Given the description of an element on the screen output the (x, y) to click on. 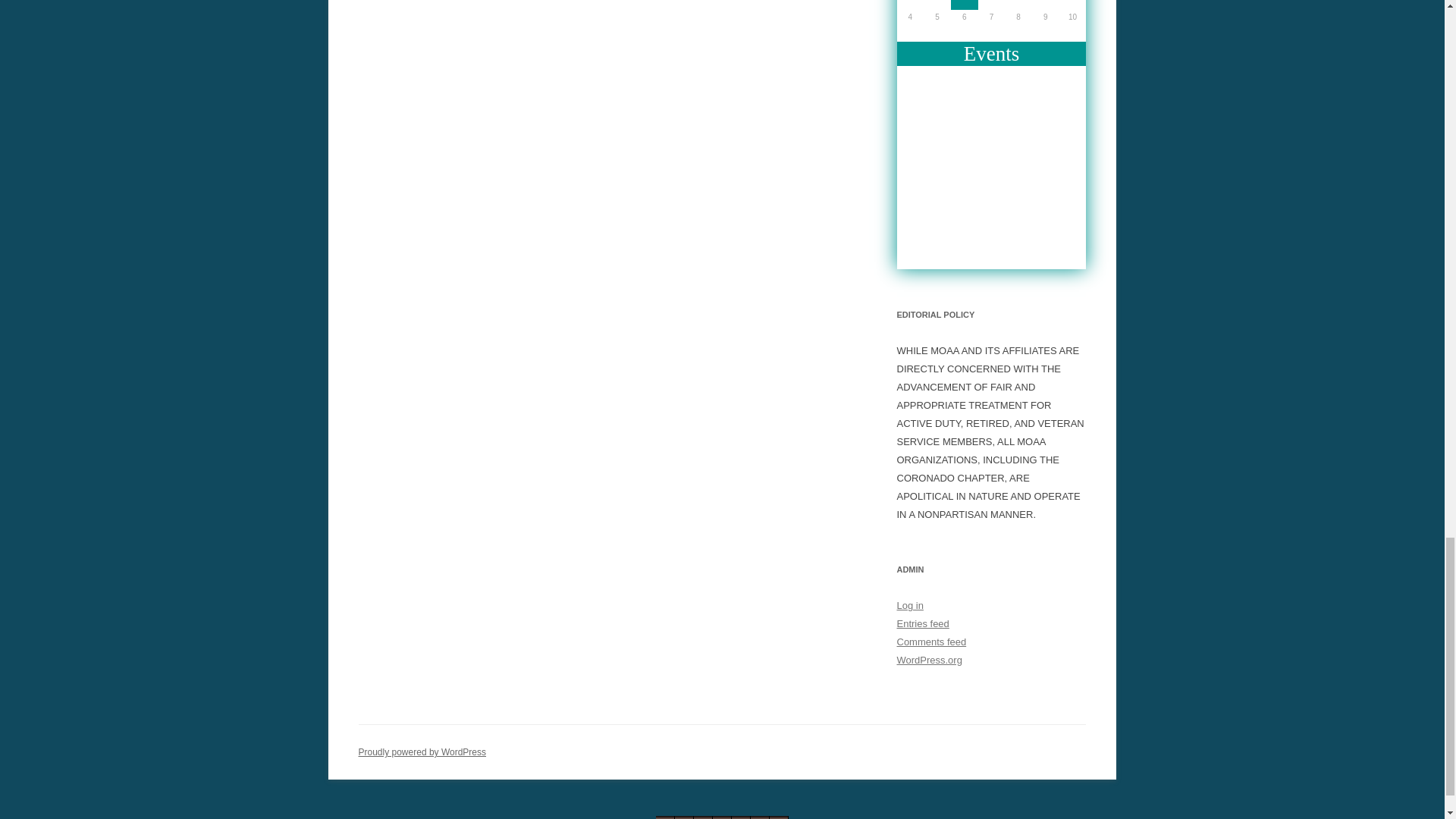
Semantic Personal Publishing Platform (422, 751)
